Given the description of an element on the screen output the (x, y) to click on. 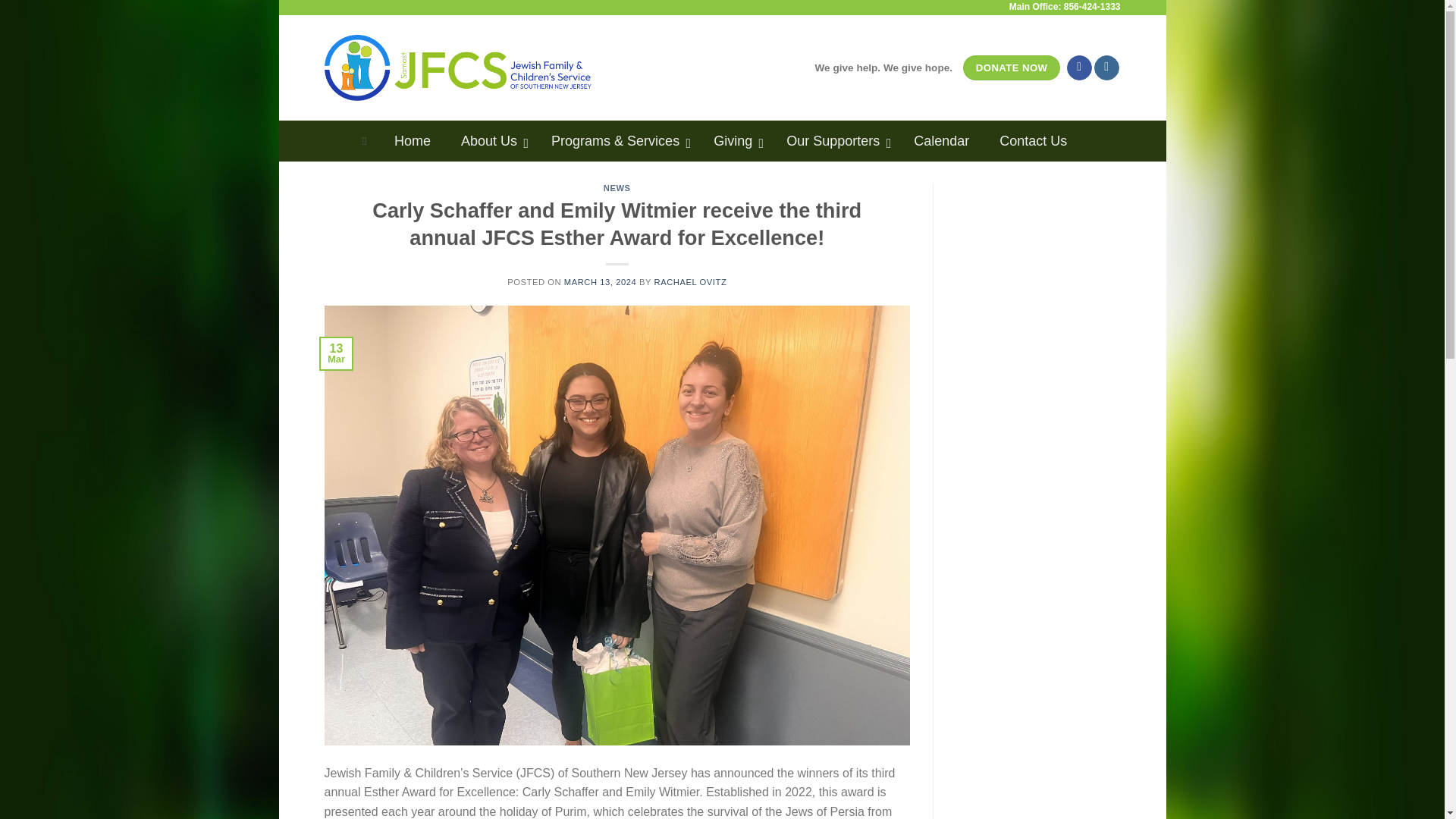
JFCS of SNJ - We give help. We give hope. (457, 67)
About Us (490, 140)
Home (411, 140)
